Given the description of an element on the screen output the (x, y) to click on. 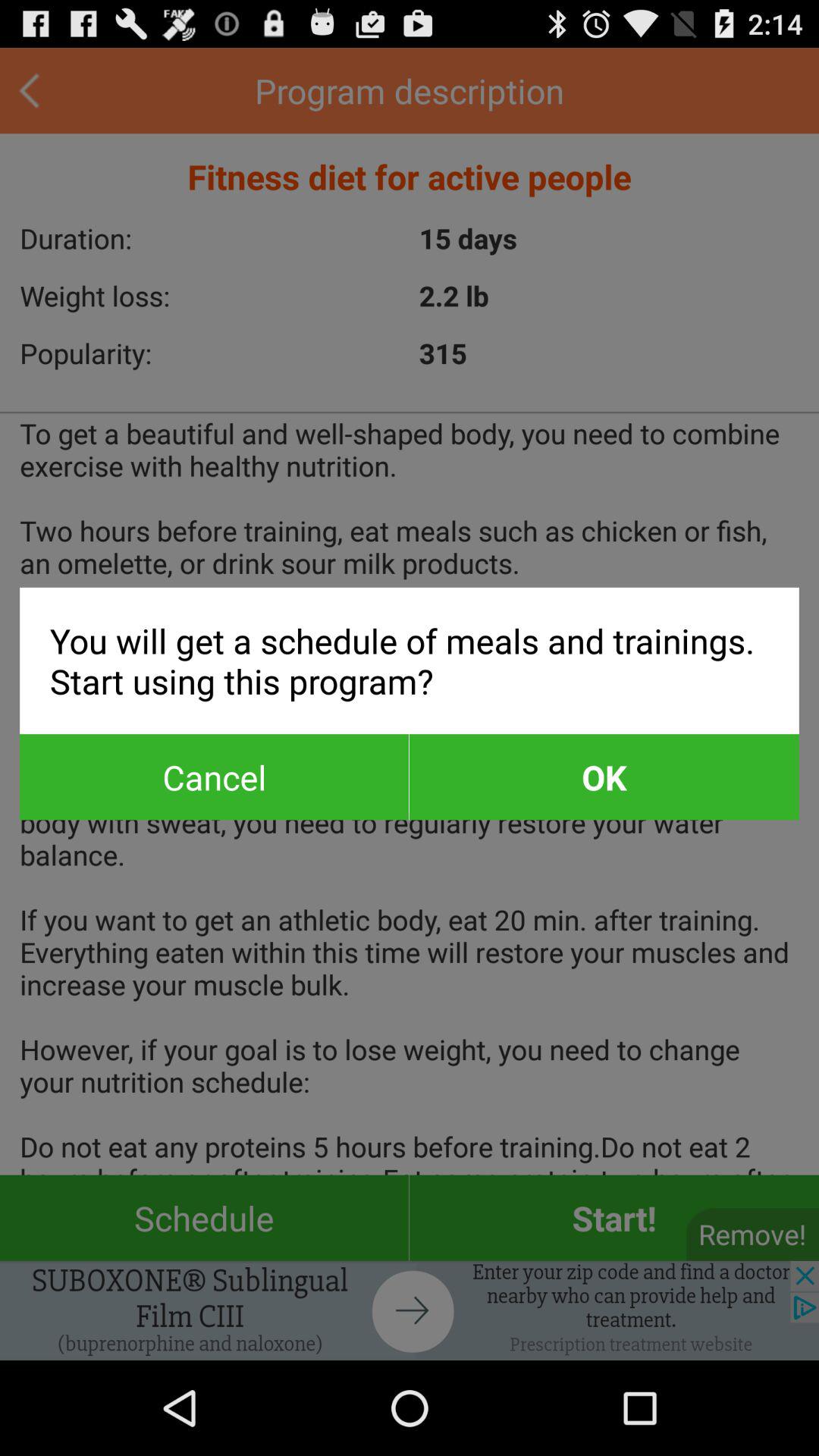
launch icon below you will get (604, 777)
